Given the description of an element on the screen output the (x, y) to click on. 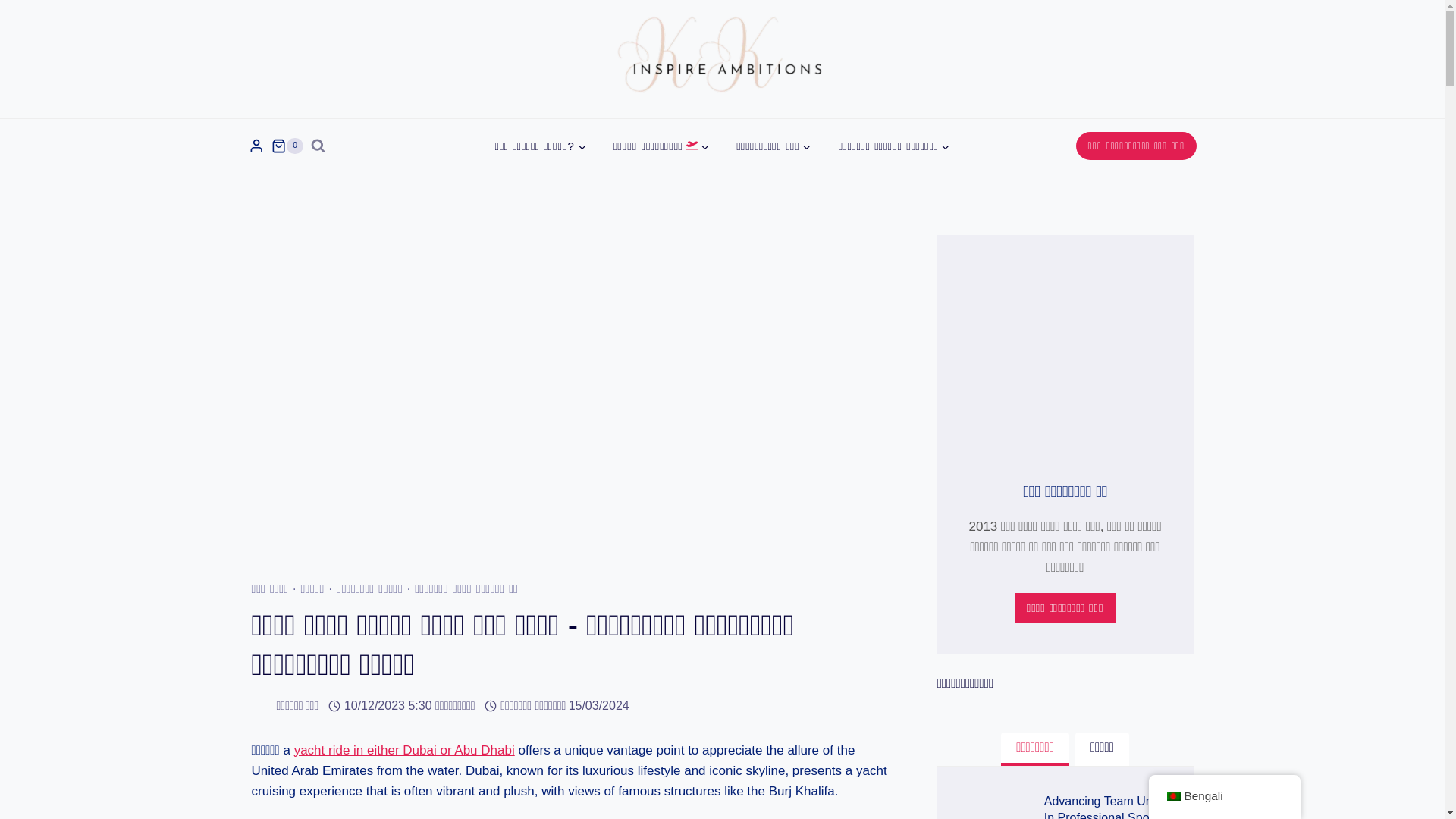
Bengali (1172, 795)
0 (286, 146)
